Given the description of an element on the screen output the (x, y) to click on. 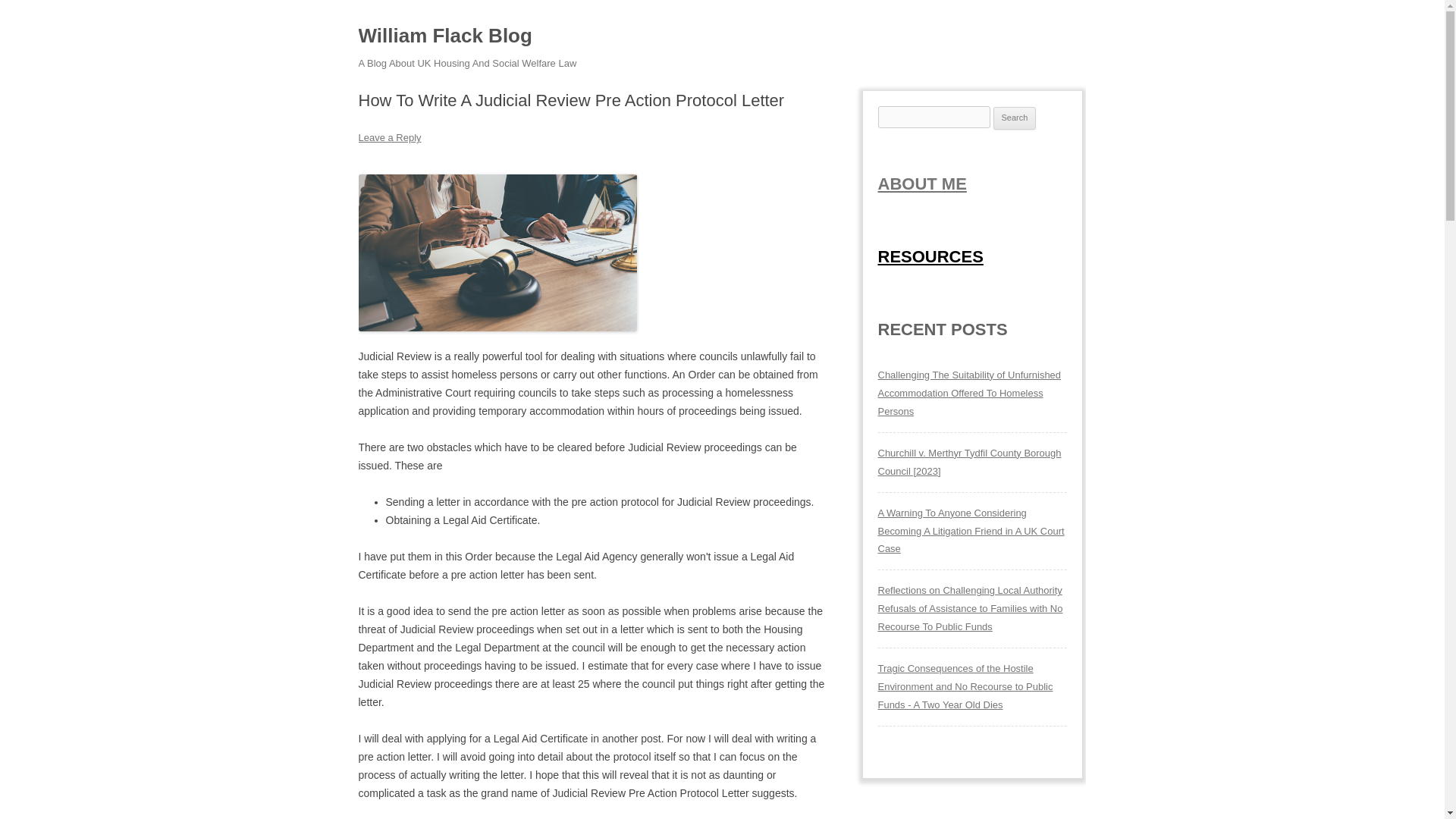
ABOUT ME (921, 183)
RESOURCES (930, 256)
Search (1014, 118)
Search (1014, 118)
Leave a Reply (389, 137)
William Flack Blog (444, 36)
